Given the description of an element on the screen output the (x, y) to click on. 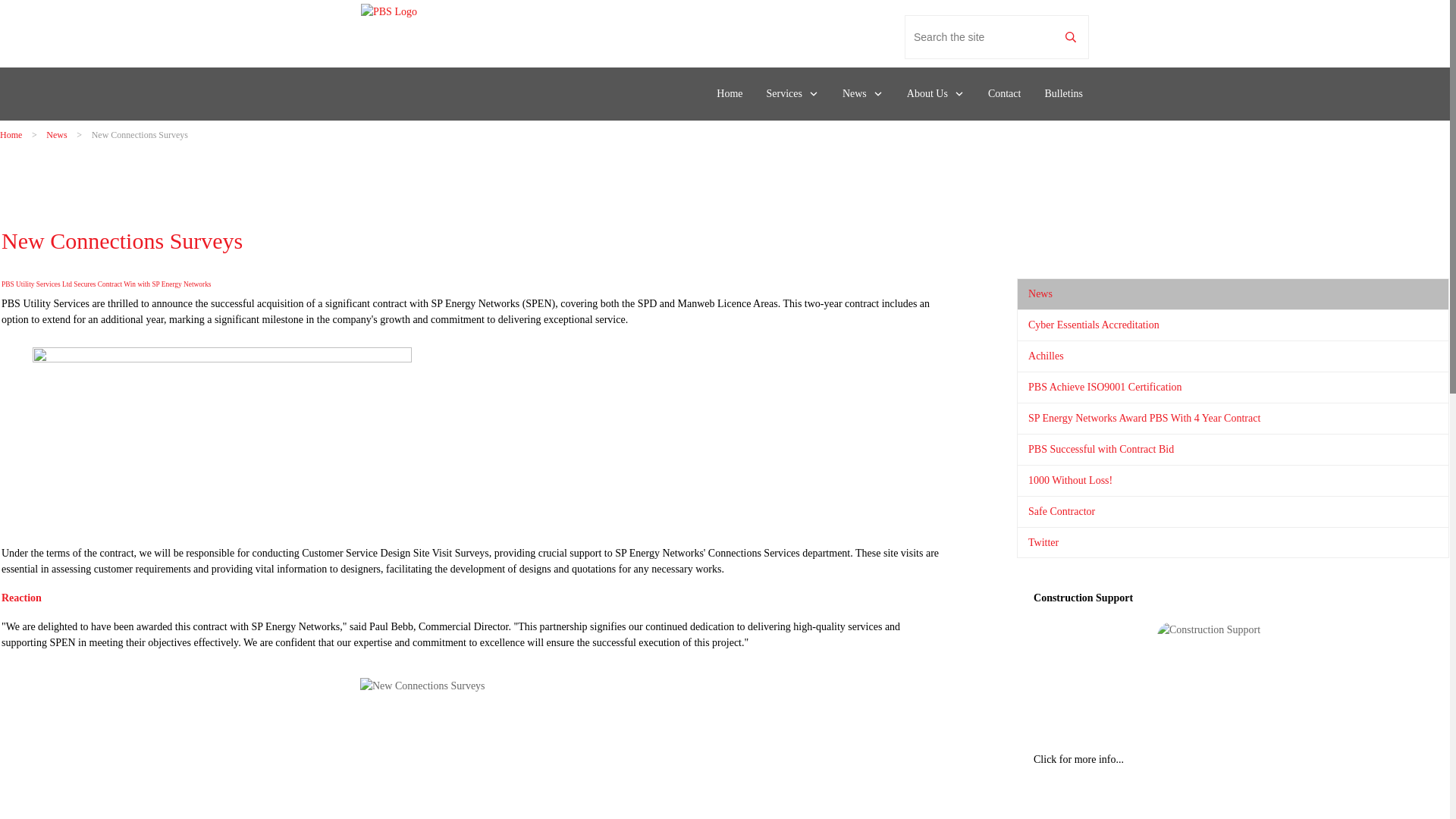
New Connections Surveys (122, 240)
ncs (469, 748)
Services (791, 93)
Bulletins (1063, 93)
News (863, 93)
New Connections Surveys (122, 240)
new-service-768x353 (222, 434)
Contact (1005, 93)
Home (729, 93)
Home (10, 134)
About Us (935, 93)
News (56, 134)
